Given the description of an element on the screen output the (x, y) to click on. 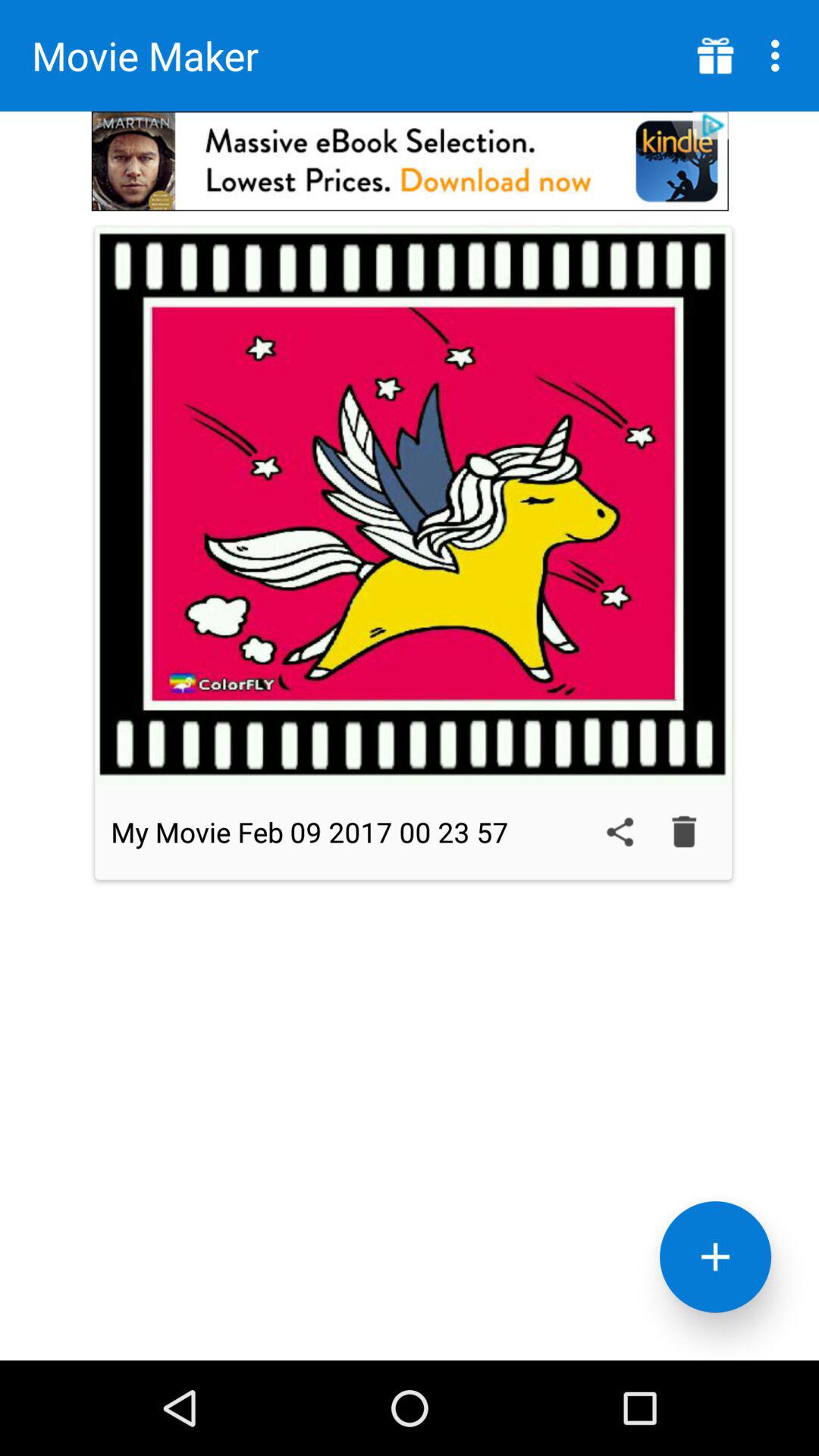
add to movie maker (715, 1256)
